Given the description of an element on the screen output the (x, y) to click on. 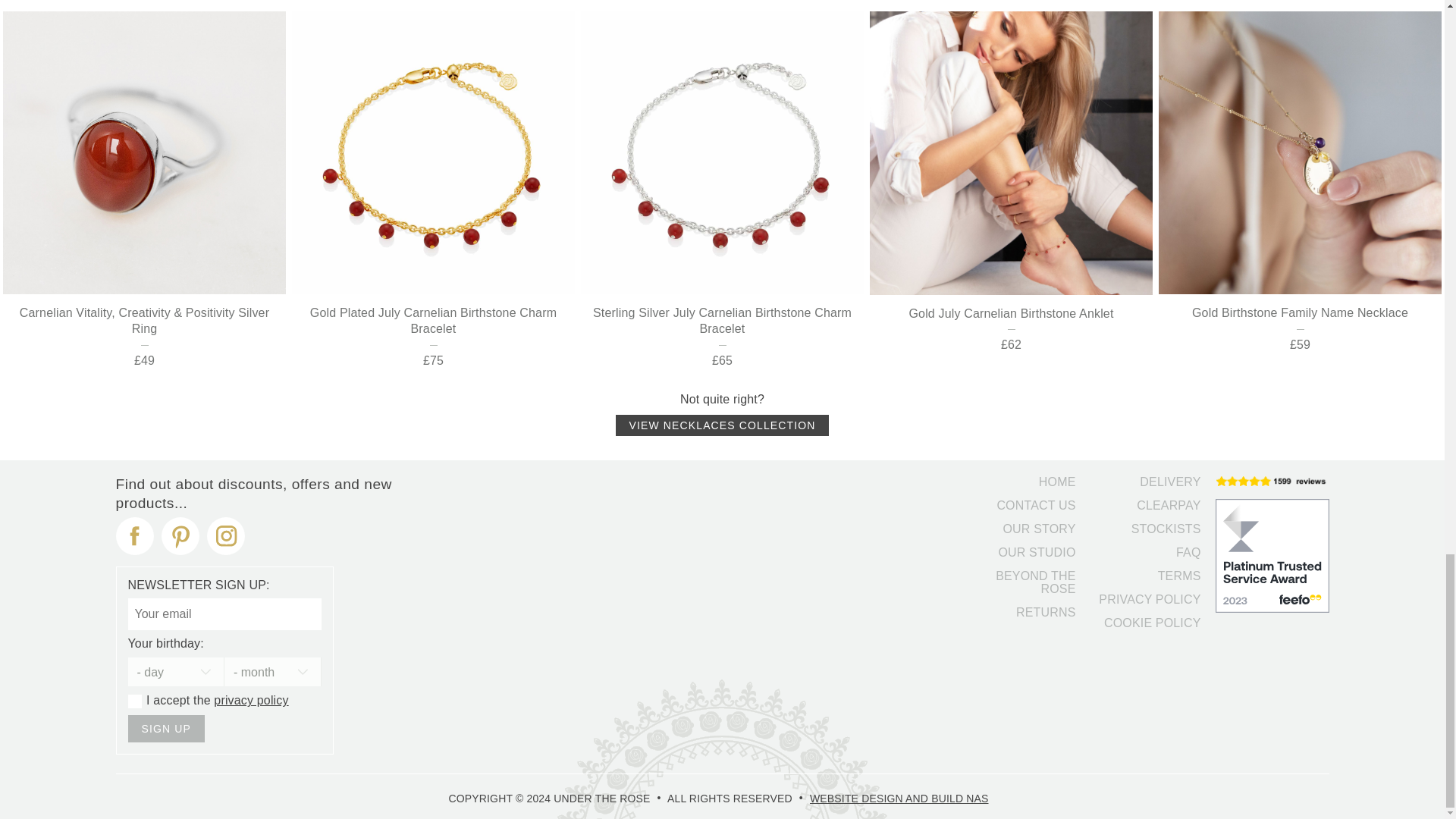
VIEW NECKLACES COLLECTION (722, 424)
on (134, 701)
